Given the description of an element on the screen output the (x, y) to click on. 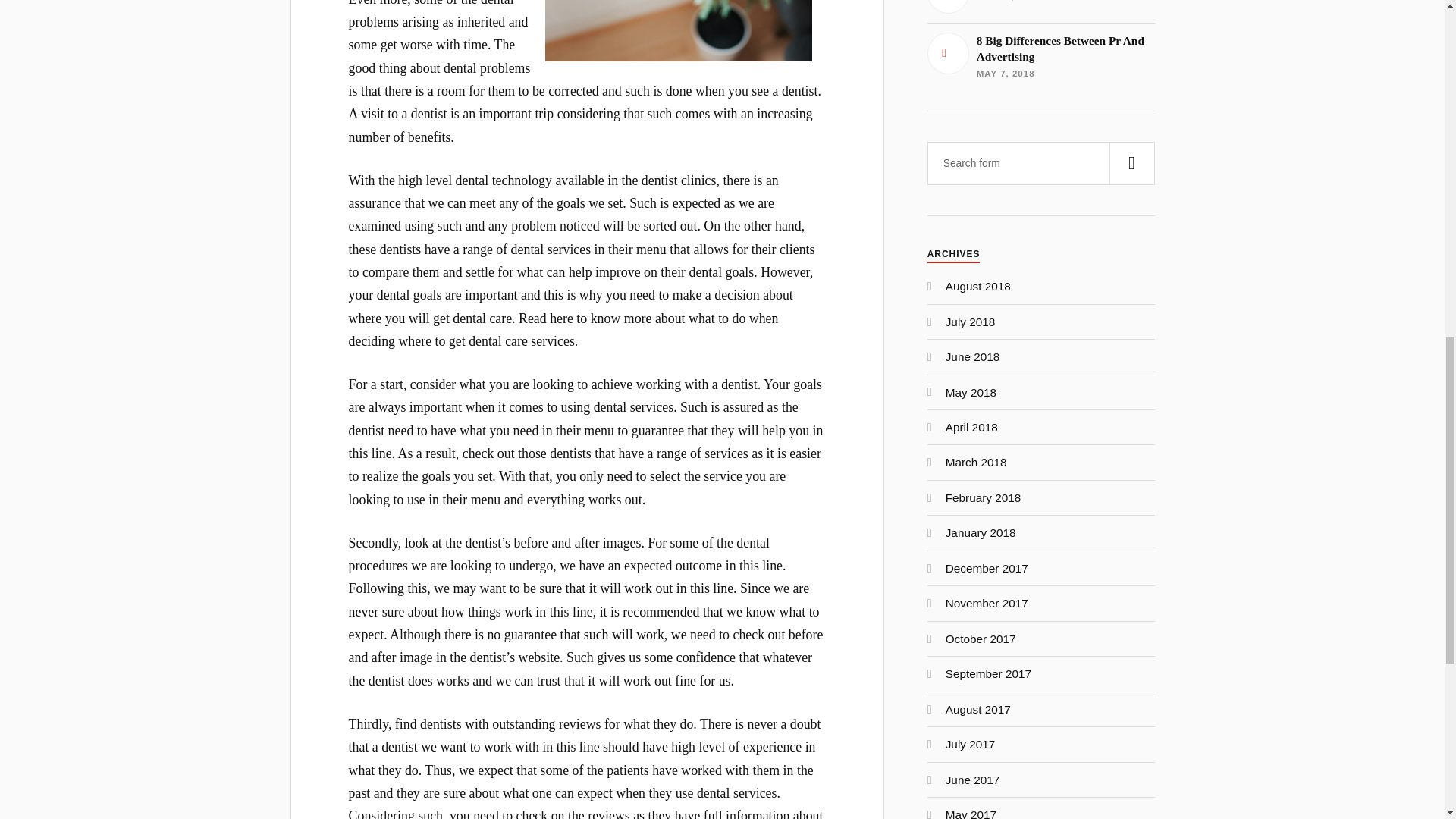
8 Big Differences Between Pr And Advertising (1040, 56)
October 2017 (1040, 56)
July 2017 (980, 638)
August 2018 (969, 744)
June 2018 (977, 286)
Home Based Business Reviews (972, 356)
February 2018 (1040, 6)
July 2018 (983, 497)
November 2017 (969, 321)
